Given the description of an element on the screen output the (x, y) to click on. 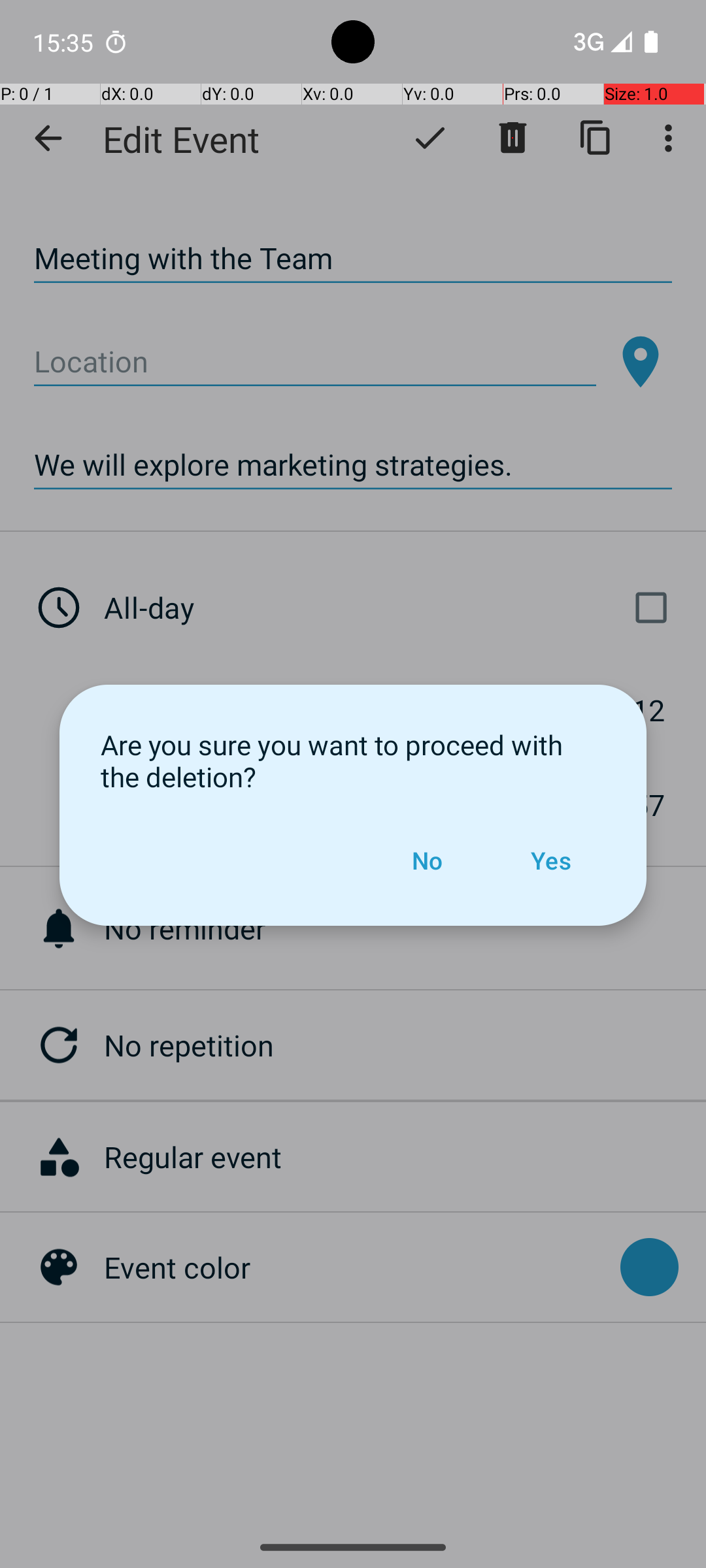
Are you sure you want to proceed with the deletion? Element type: android.widget.TextView (352, 760)
